Given the description of an element on the screen output the (x, y) to click on. 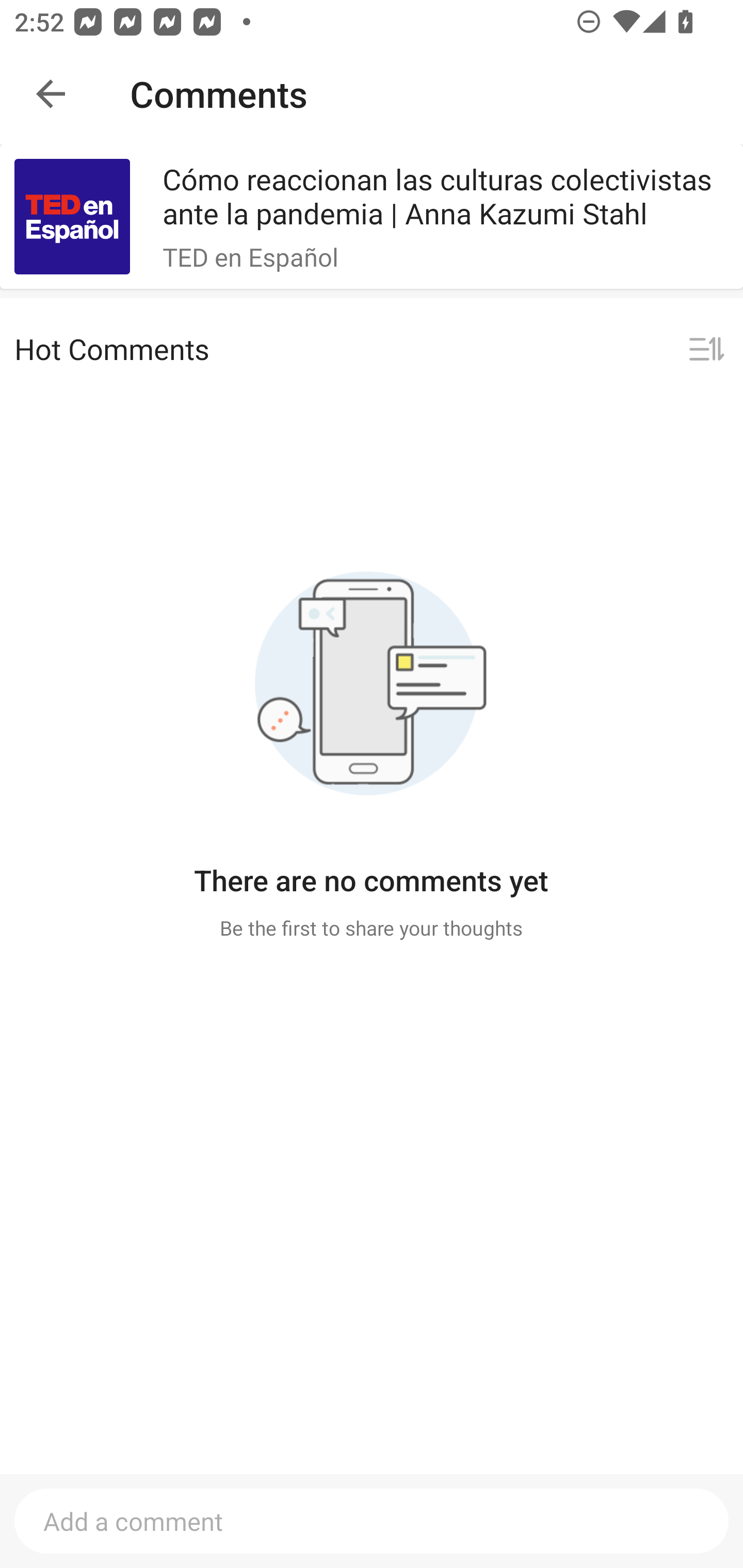
Navigate up (50, 93)
 (706, 349)
Add a comment (371, 1520)
